Given the description of an element on the screen output the (x, y) to click on. 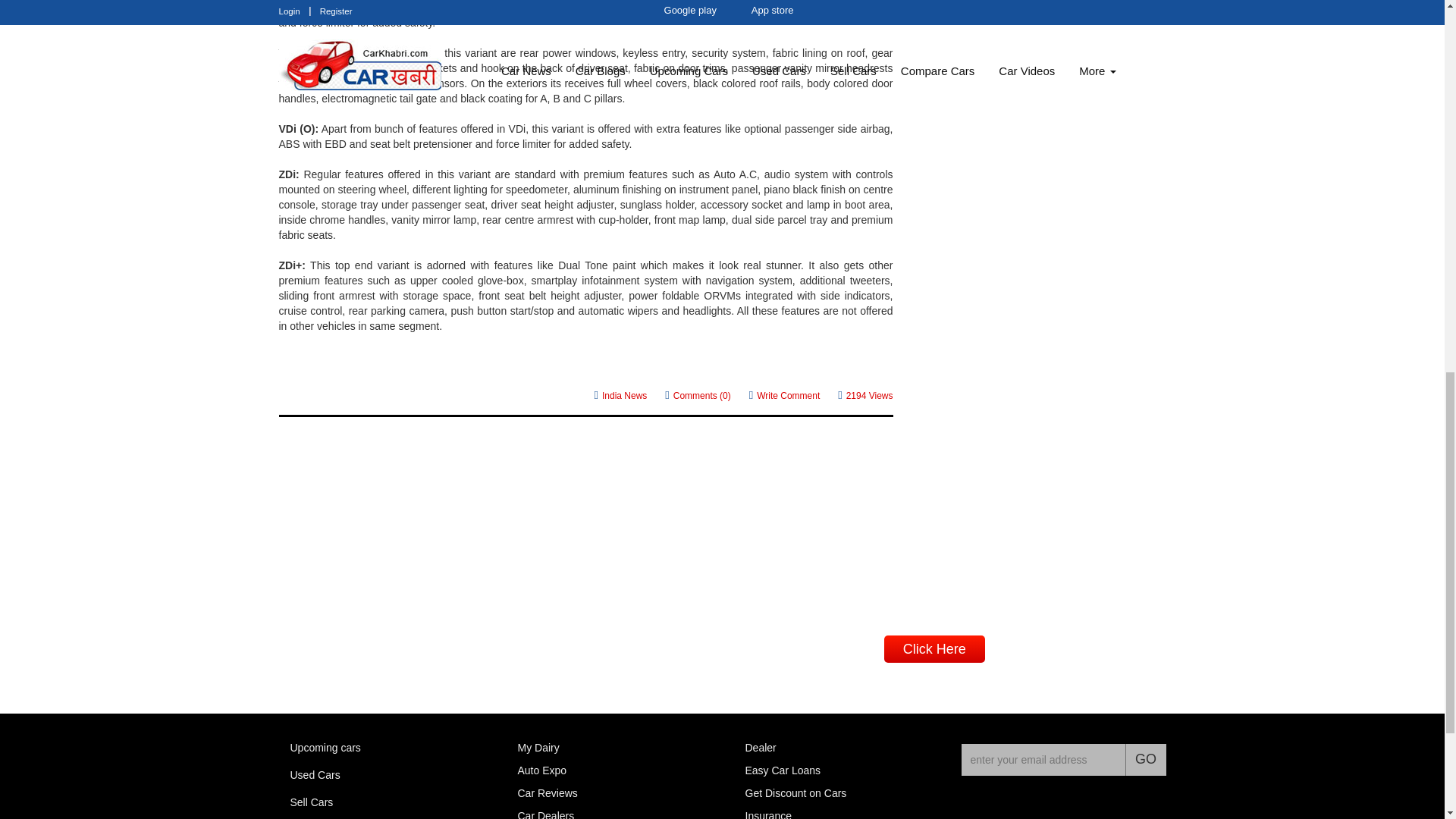
Dealer (760, 747)
Discount (794, 793)
2194 Views (865, 394)
Car Loans (782, 770)
India News (620, 394)
Write Comment (785, 394)
